Given the description of an element on the screen output the (x, y) to click on. 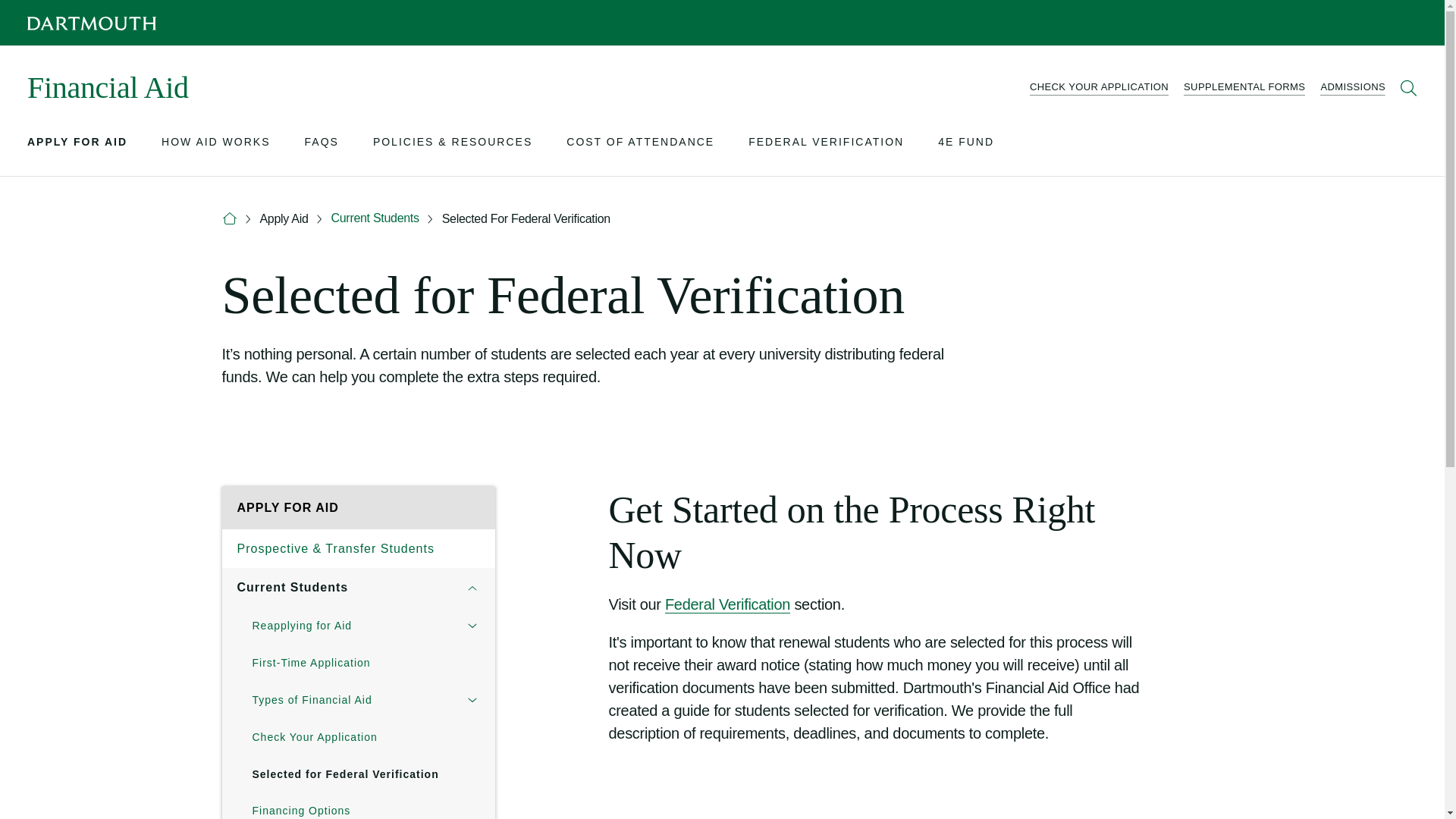
ADMISSIONS (1353, 88)
SUPPLEMENTAL FORMS (1243, 88)
Dartmouth Logo (91, 22)
CHECK YOUR APPLICATION (1099, 88)
APPLY FOR AID (77, 144)
Home (228, 218)
Financial Aid (108, 87)
